Given the description of an element on the screen output the (x, y) to click on. 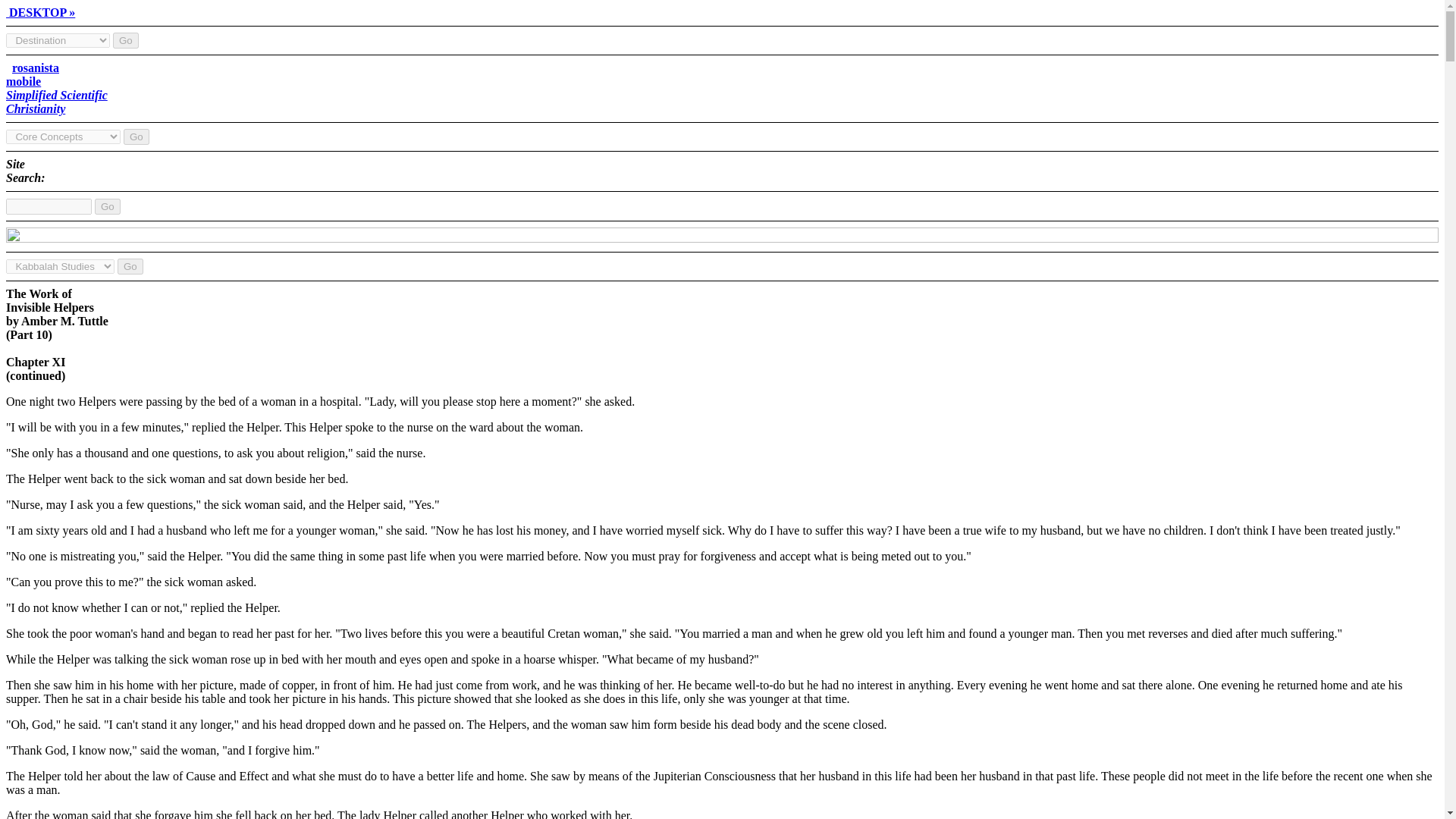
Go (129, 266)
Go (136, 136)
Go (107, 206)
Go (56, 88)
Go (125, 40)
